Given the description of an element on the screen output the (x, y) to click on. 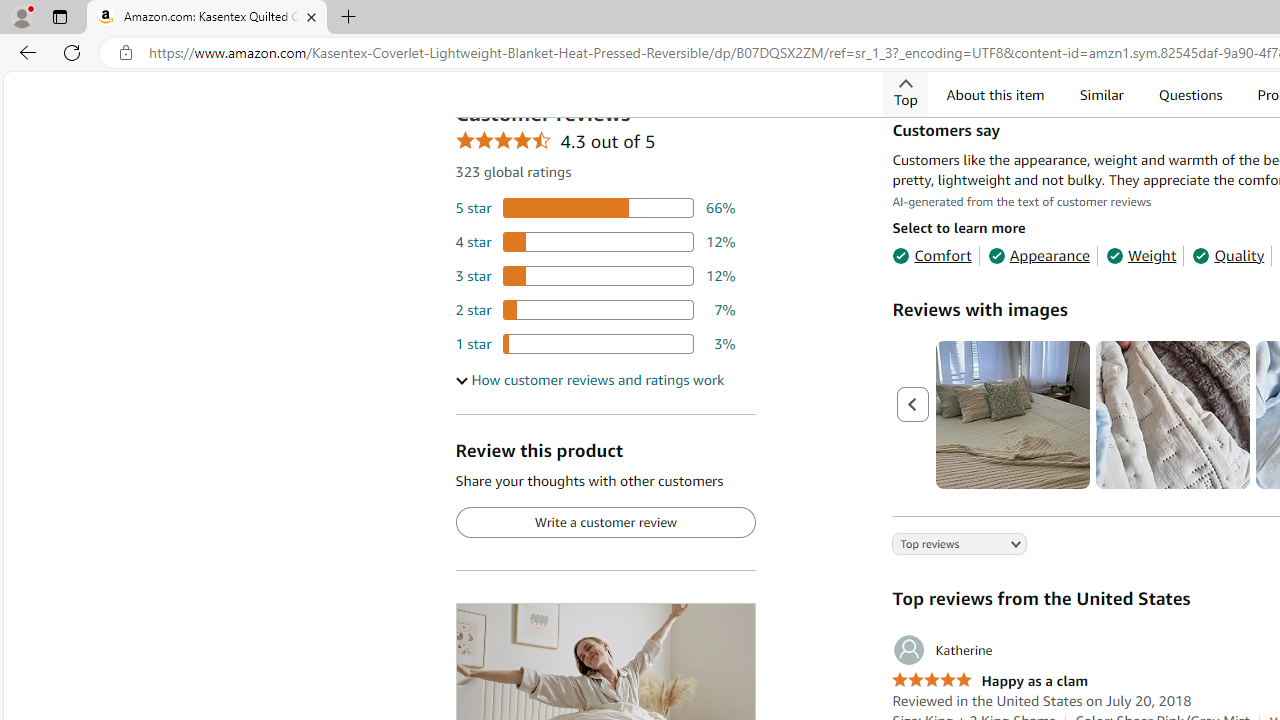
How customer reviews and ratings work (589, 379)
